Given the description of an element on the screen output the (x, y) to click on. 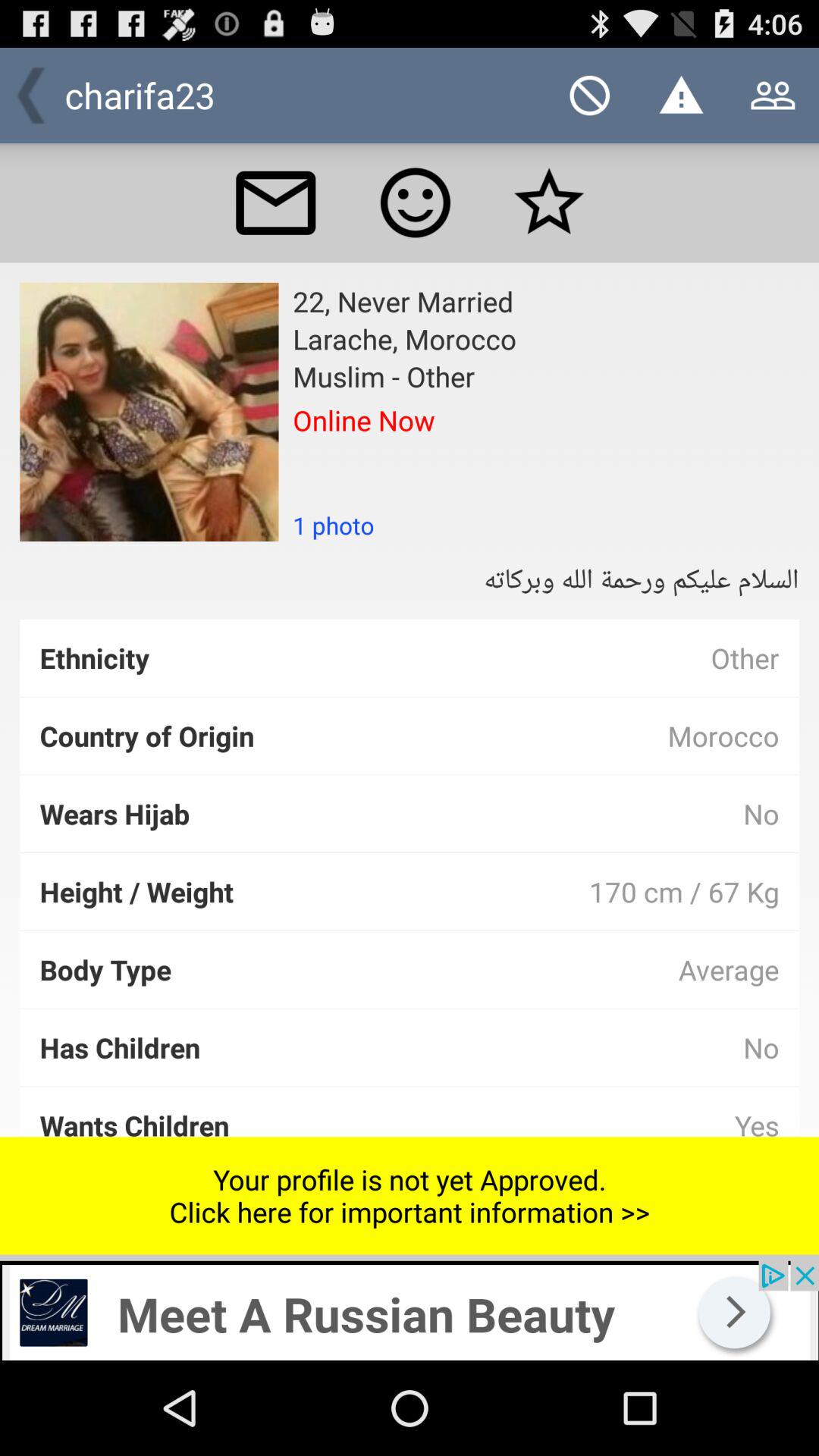
add feelings to profile (415, 202)
